Given the description of an element on the screen output the (x, y) to click on. 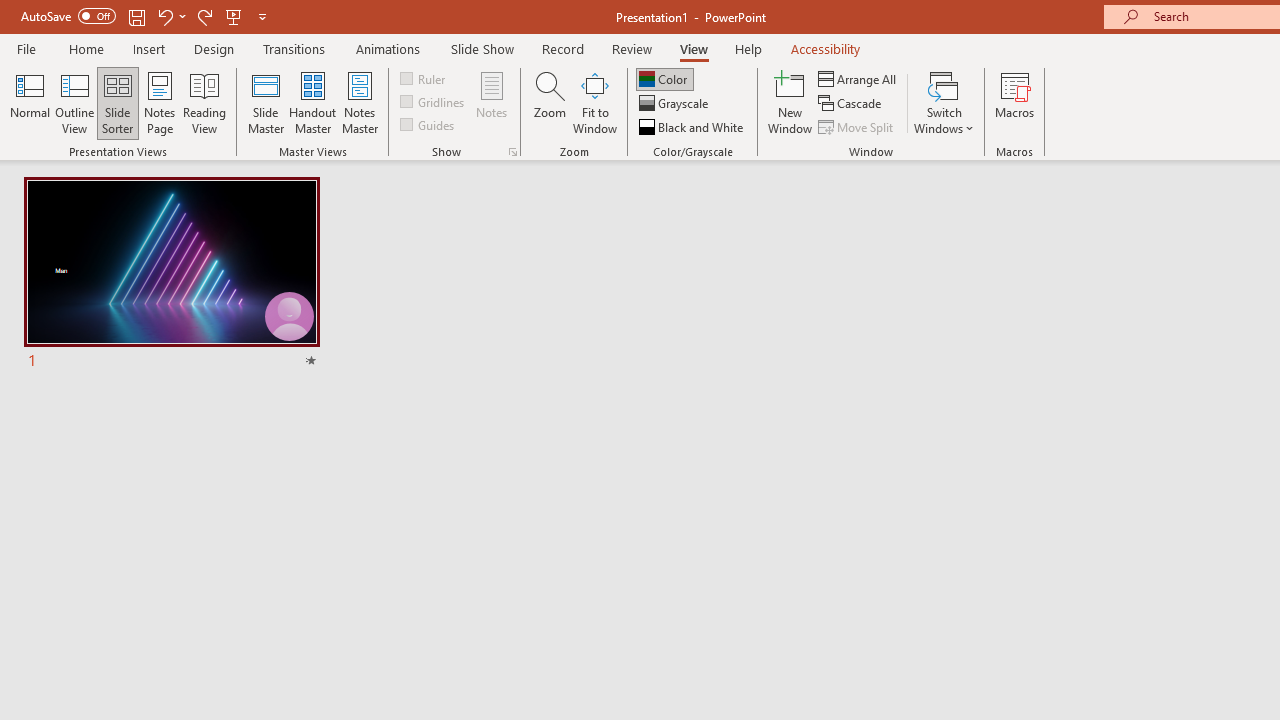
Black and White (693, 126)
Macros (1014, 102)
Outline View (74, 102)
Guides (428, 124)
Cascade (851, 103)
